Given the description of an element on the screen output the (x, y) to click on. 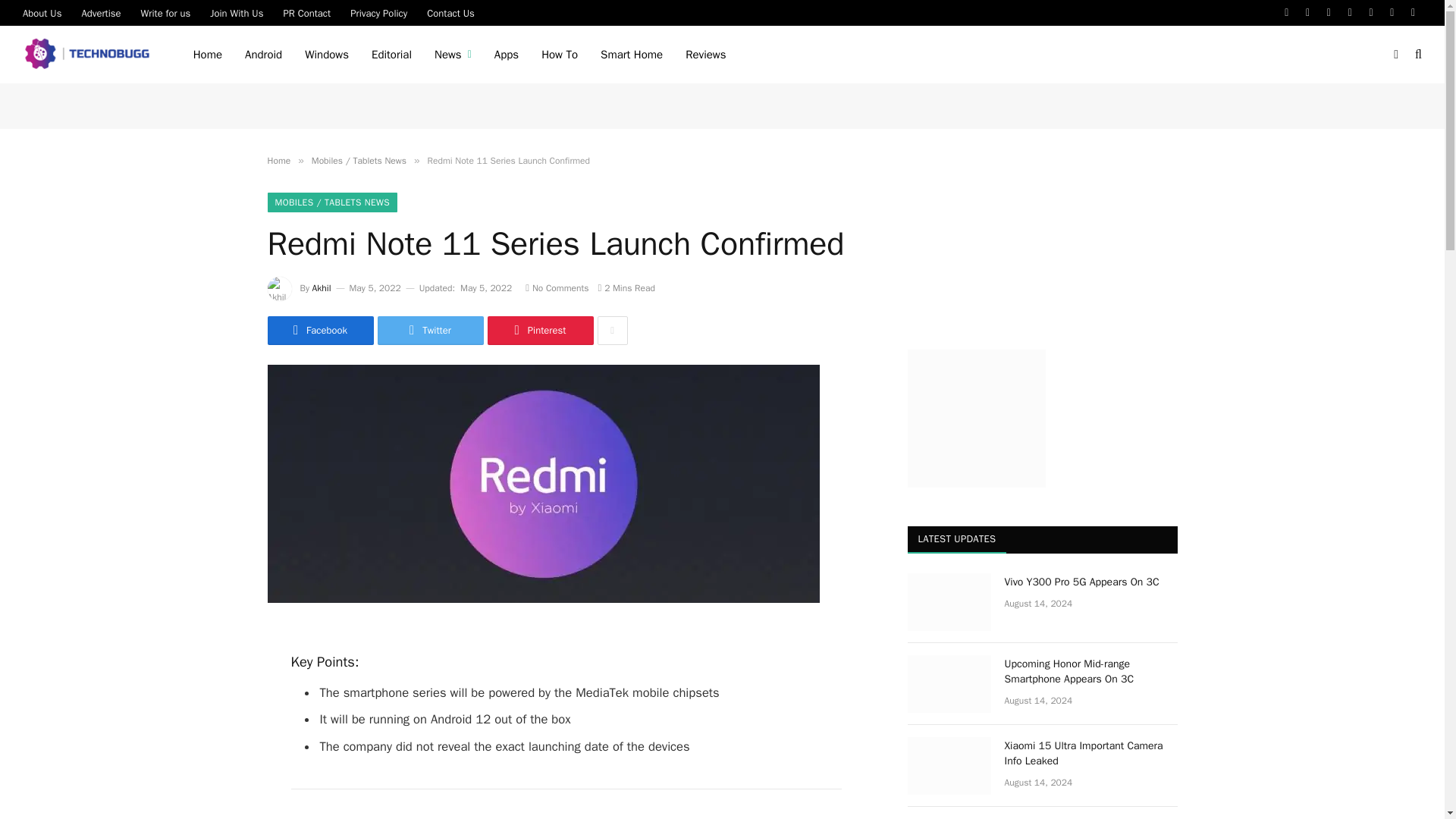
News (453, 54)
Share on Facebook (319, 330)
Write for us (165, 12)
Windows (326, 54)
Posts by Akhil (322, 287)
Smart Home (631, 54)
Android (263, 54)
Advertise (101, 12)
Share on Pinterest (539, 330)
Home (207, 54)
